Given the description of an element on the screen output the (x, y) to click on. 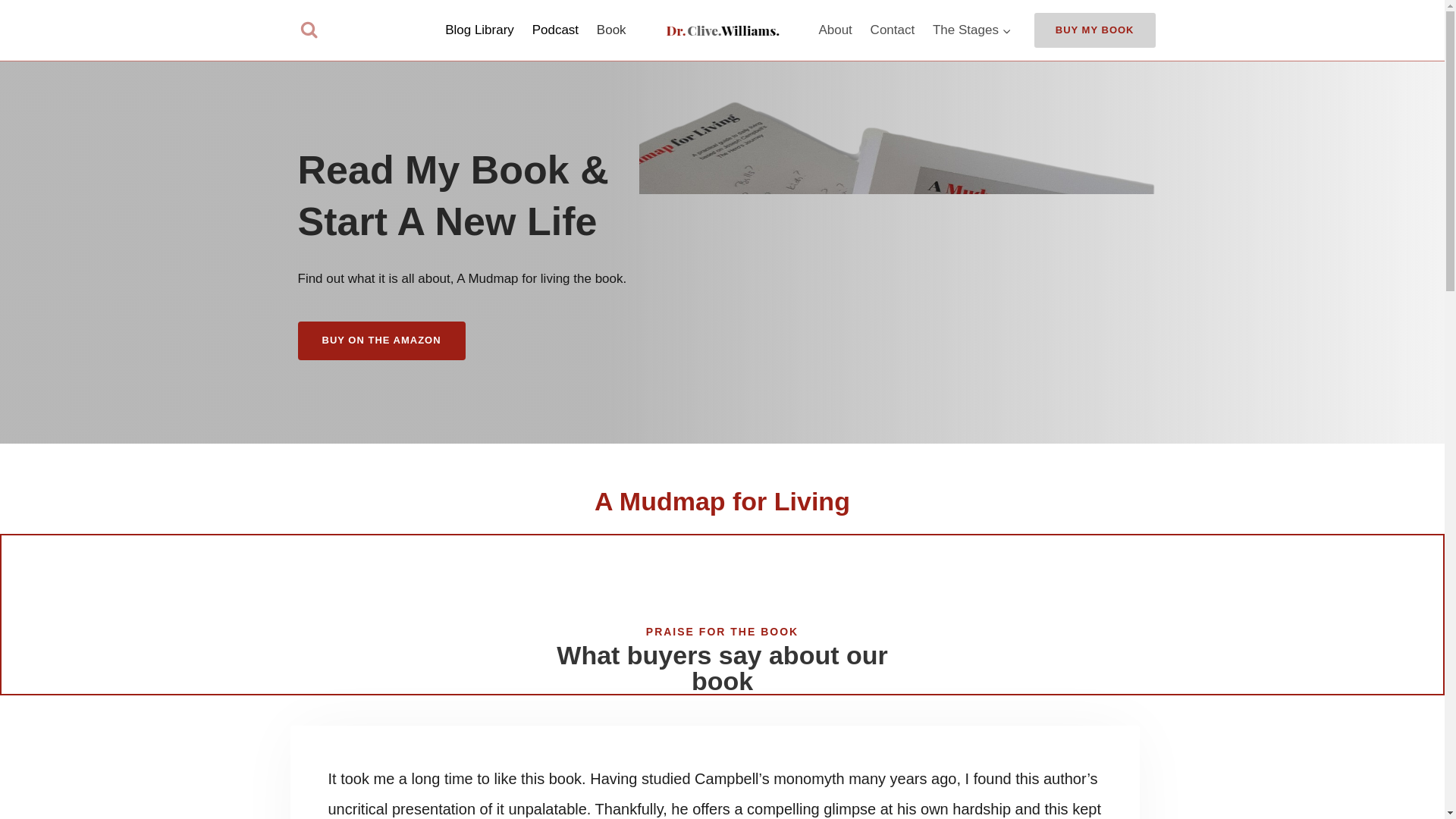
Blog Library (478, 29)
BUY ON THE AMAZON (380, 340)
BUY MY BOOK (1094, 30)
Contact (892, 29)
About (835, 29)
The Stages (971, 29)
Podcast (555, 29)
Book (611, 29)
